Given the description of an element on the screen output the (x, y) to click on. 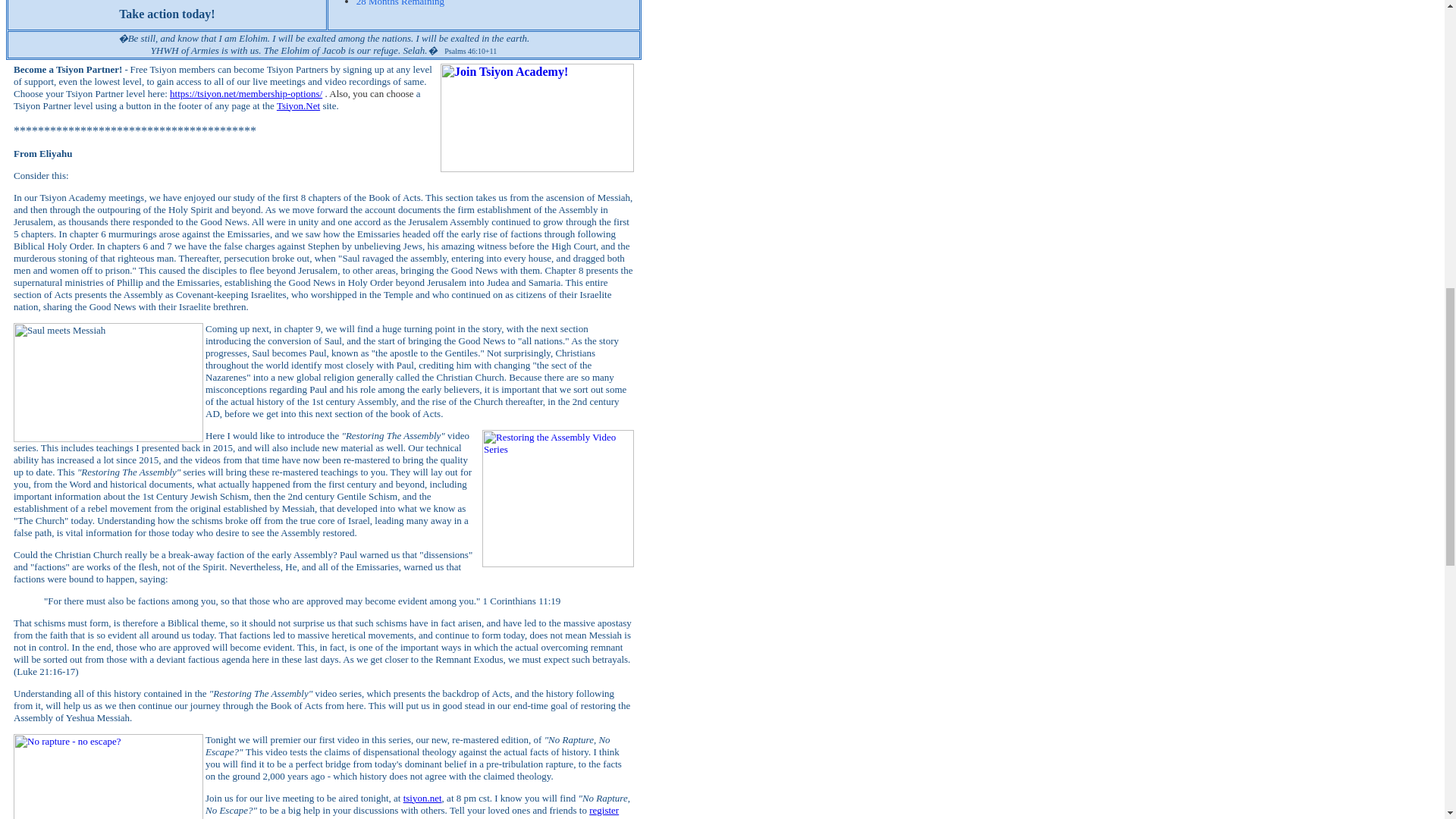
Tsiyon.Net (298, 105)
register free of charge and join us for this special meeting (411, 811)
28 Months Remaining (400, 3)
tsiyon.net (422, 797)
